Given the description of an element on the screen output the (x, y) to click on. 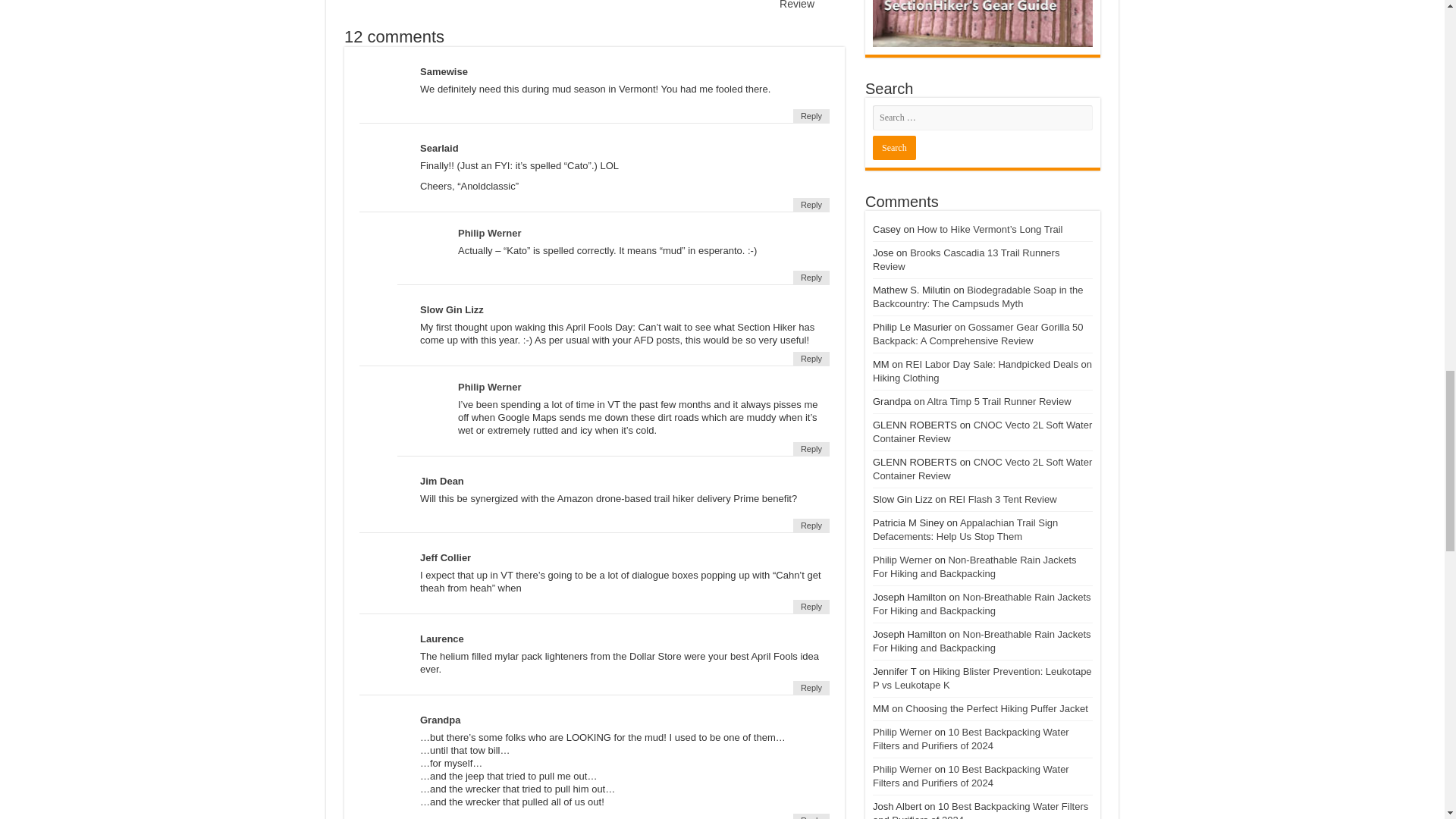
Reply (811, 204)
Search (736, 4)
Search (893, 147)
Reply (893, 147)
